Given the description of an element on the screen output the (x, y) to click on. 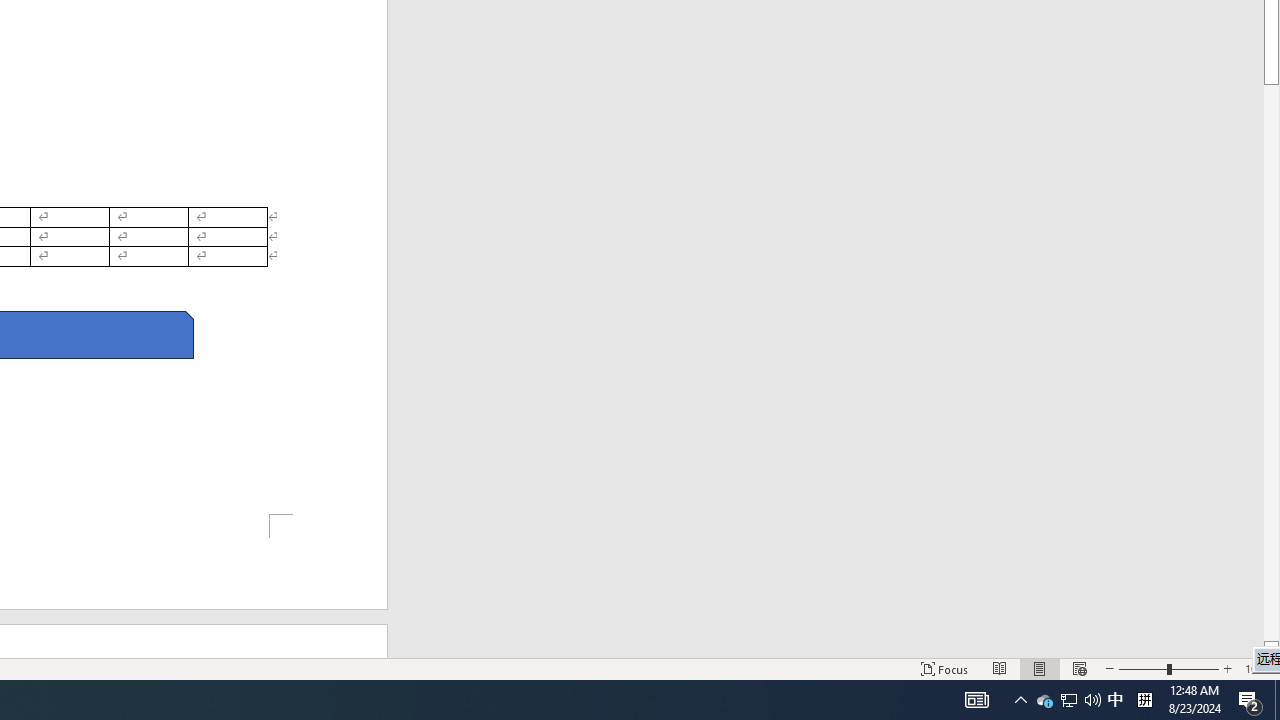
Page down (1271, 362)
Zoom 100% (1258, 668)
Line down (1271, 649)
